Given the description of an element on the screen output the (x, y) to click on. 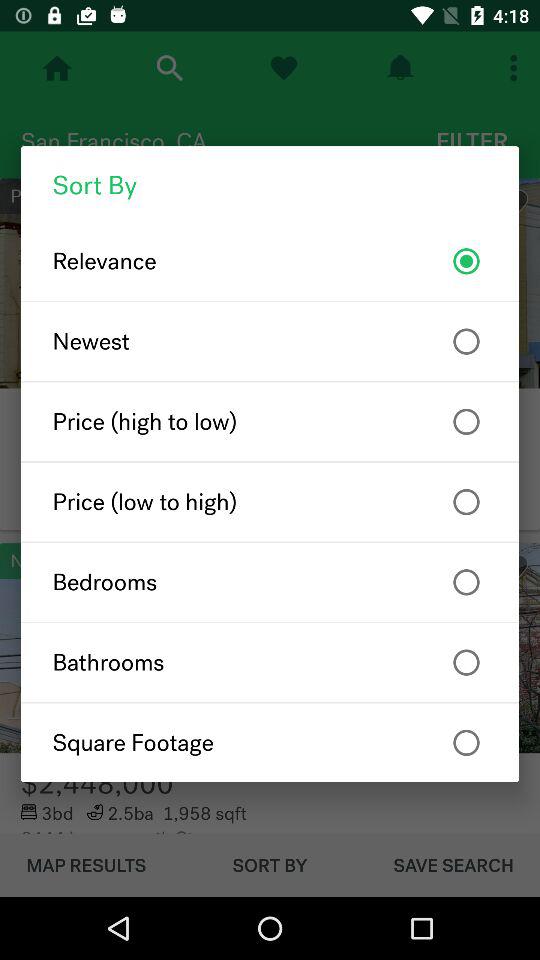
click bedrooms item (270, 582)
